Given the description of an element on the screen output the (x, y) to click on. 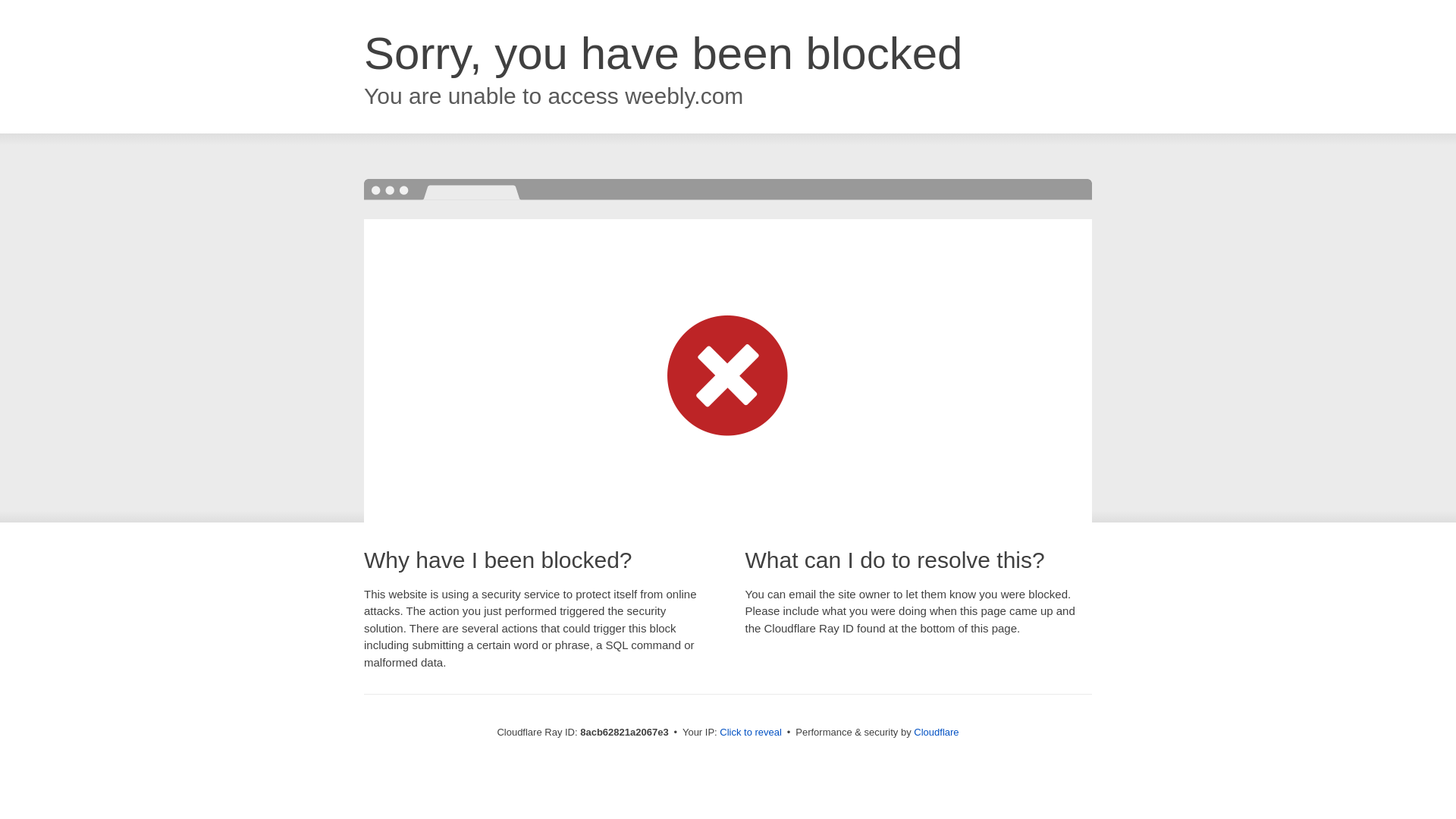
Click to reveal (750, 732)
Cloudflare (936, 731)
